Given the description of an element on the screen output the (x, y) to click on. 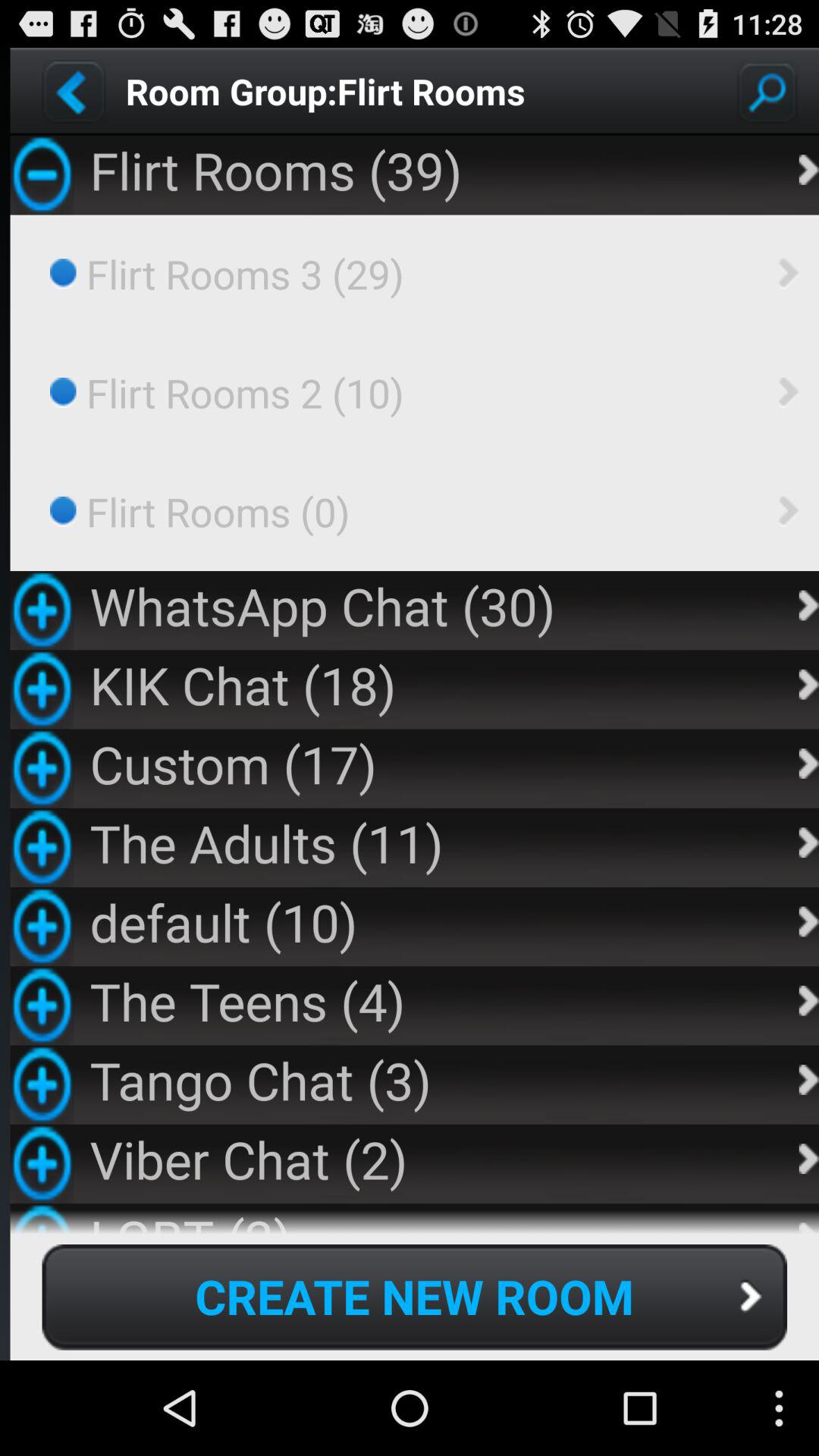
press icon below lgbt (2) app (414, 1297)
